Given the description of an element on the screen output the (x, y) to click on. 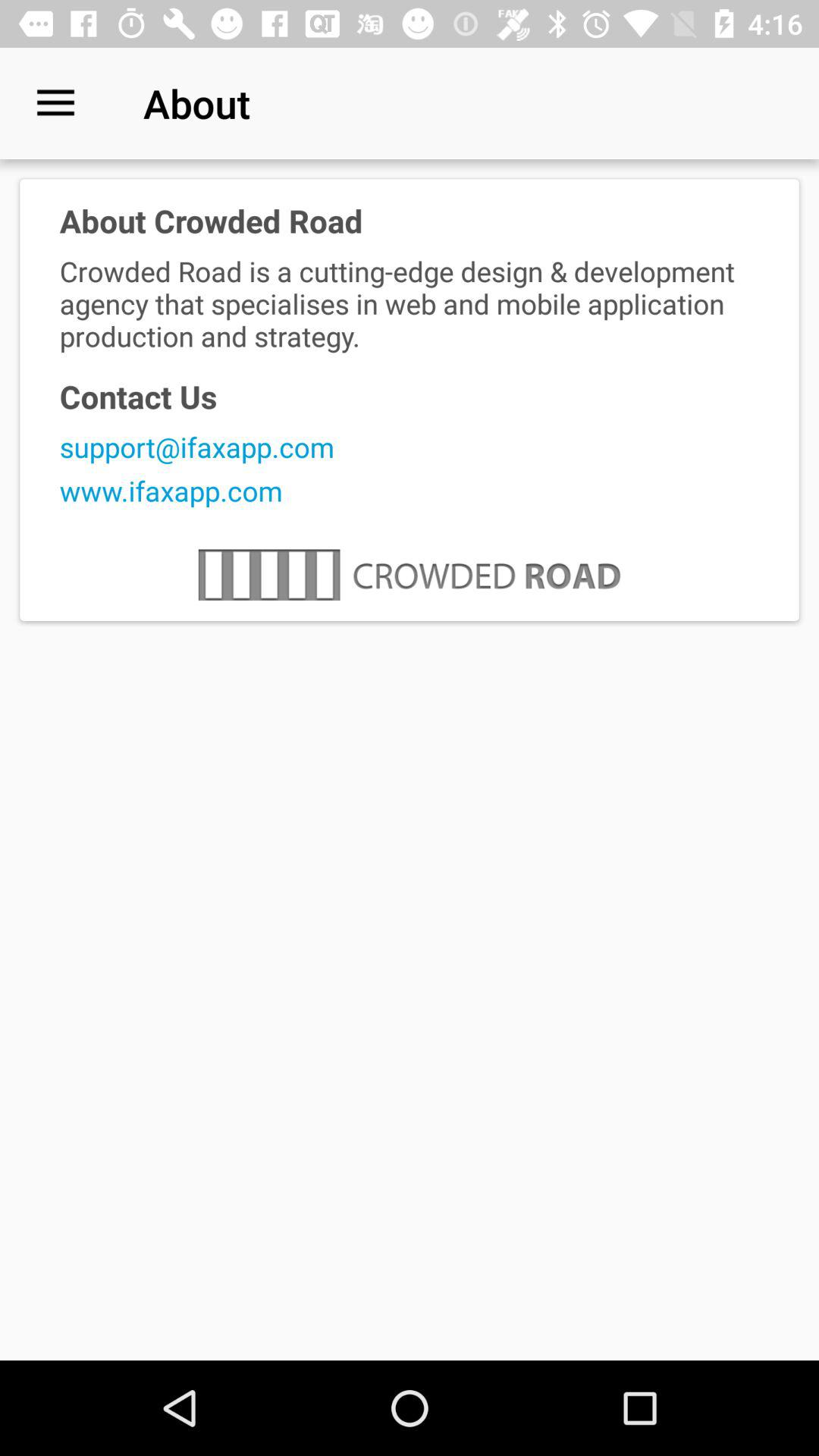
click icon above the about crowded road icon (55, 103)
